Given the description of an element on the screen output the (x, y) to click on. 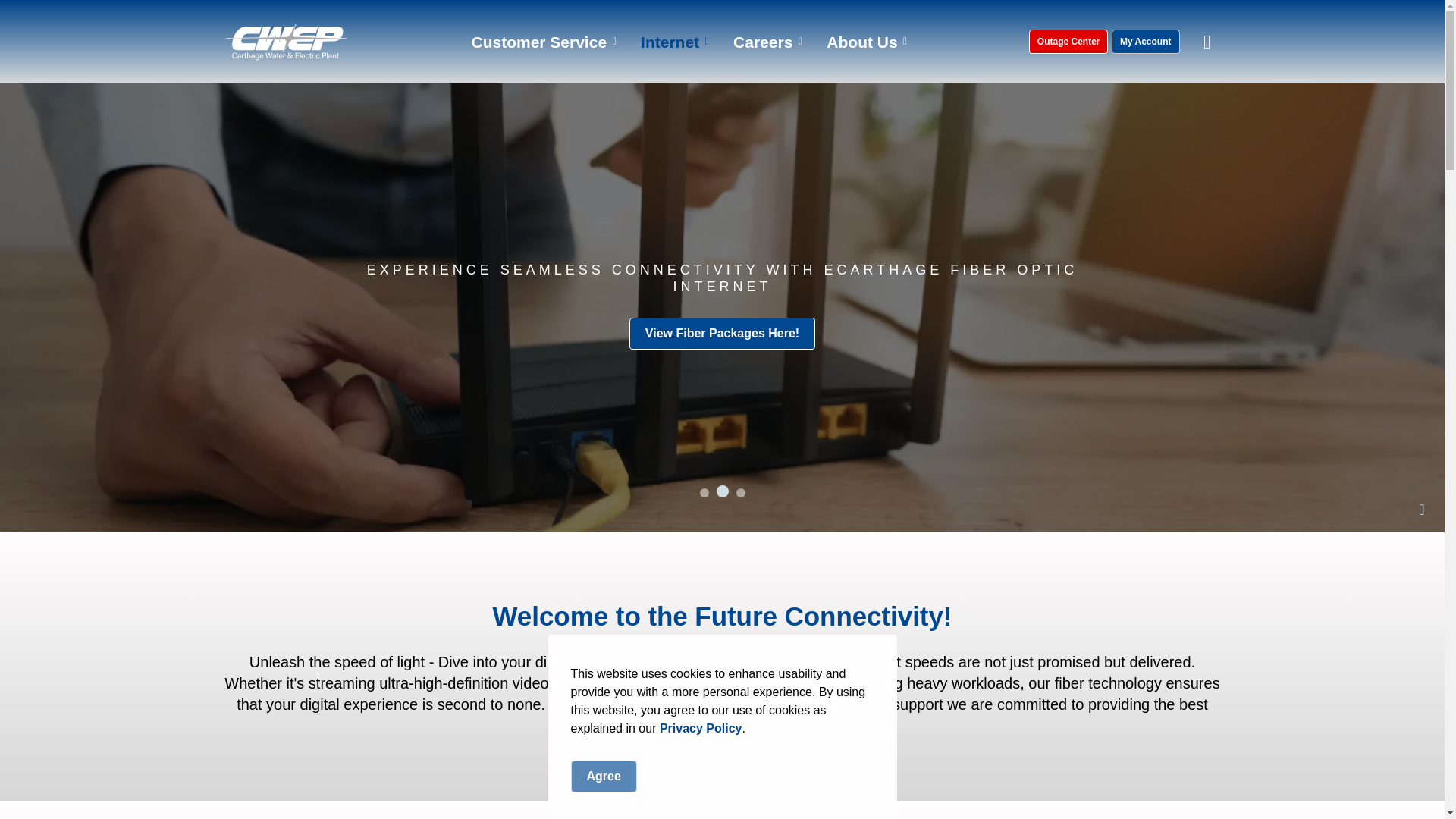
Customer Service (536, 41)
About Us (860, 41)
Carthage Water and Electric Plant (286, 41)
Privacy Policy (700, 727)
Careers (761, 41)
Internet (667, 41)
